Given the description of an element on the screen output the (x, y) to click on. 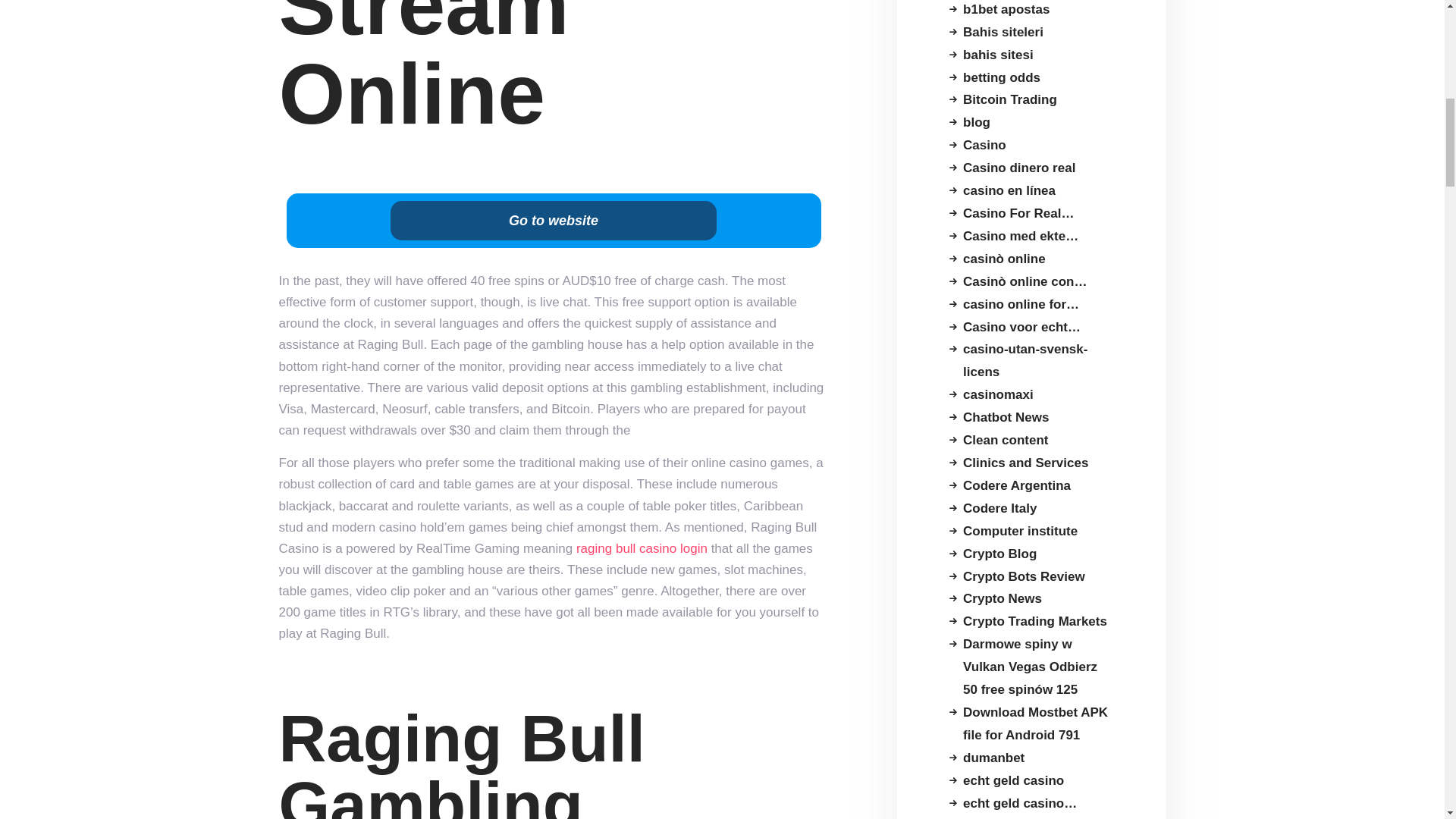
Go to website (553, 220)
raging bull casino login (641, 548)
